Given the description of an element on the screen output the (x, y) to click on. 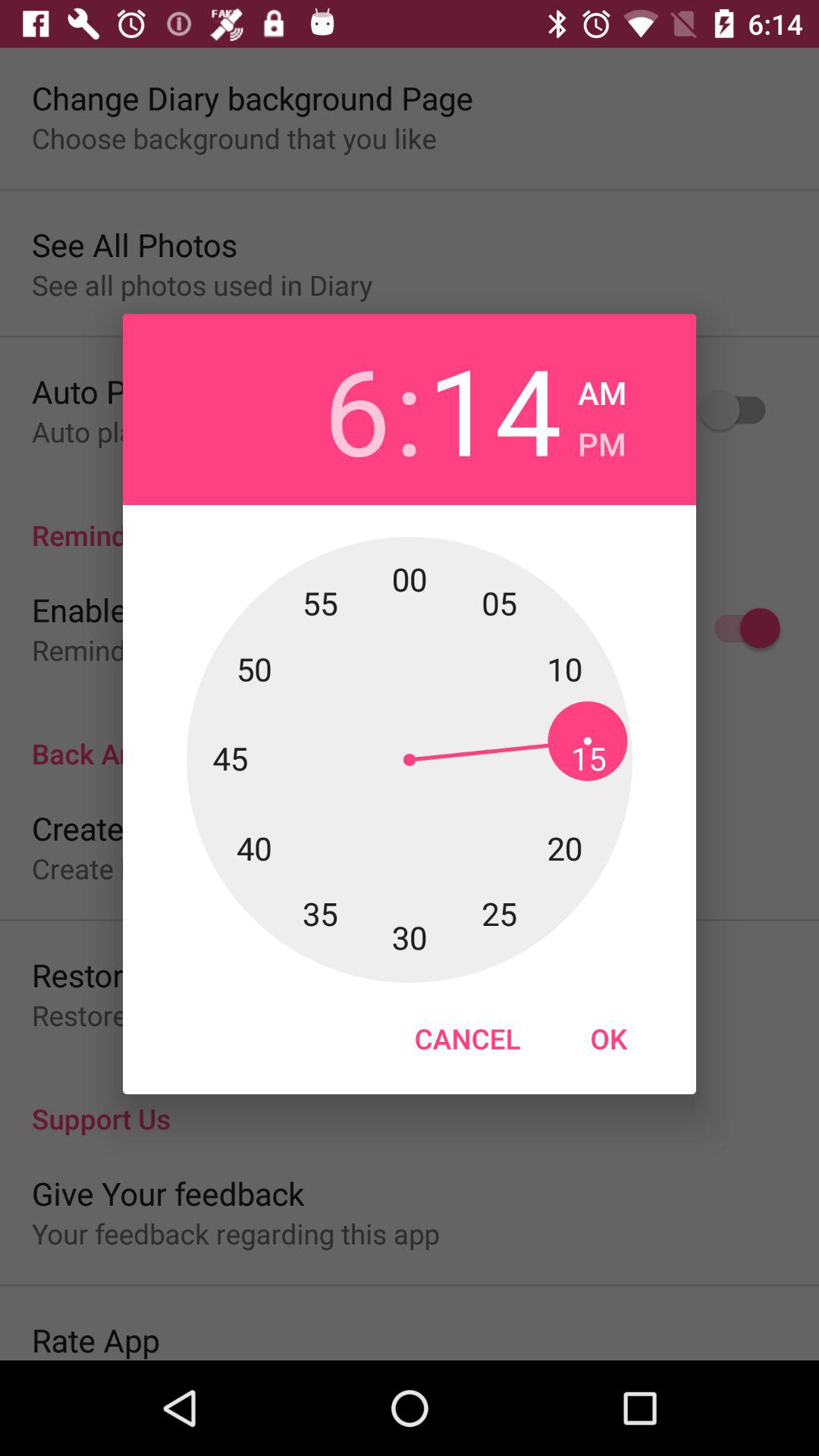
turn on icon next to the 14 icon (601, 388)
